Given the description of an element on the screen output the (x, y) to click on. 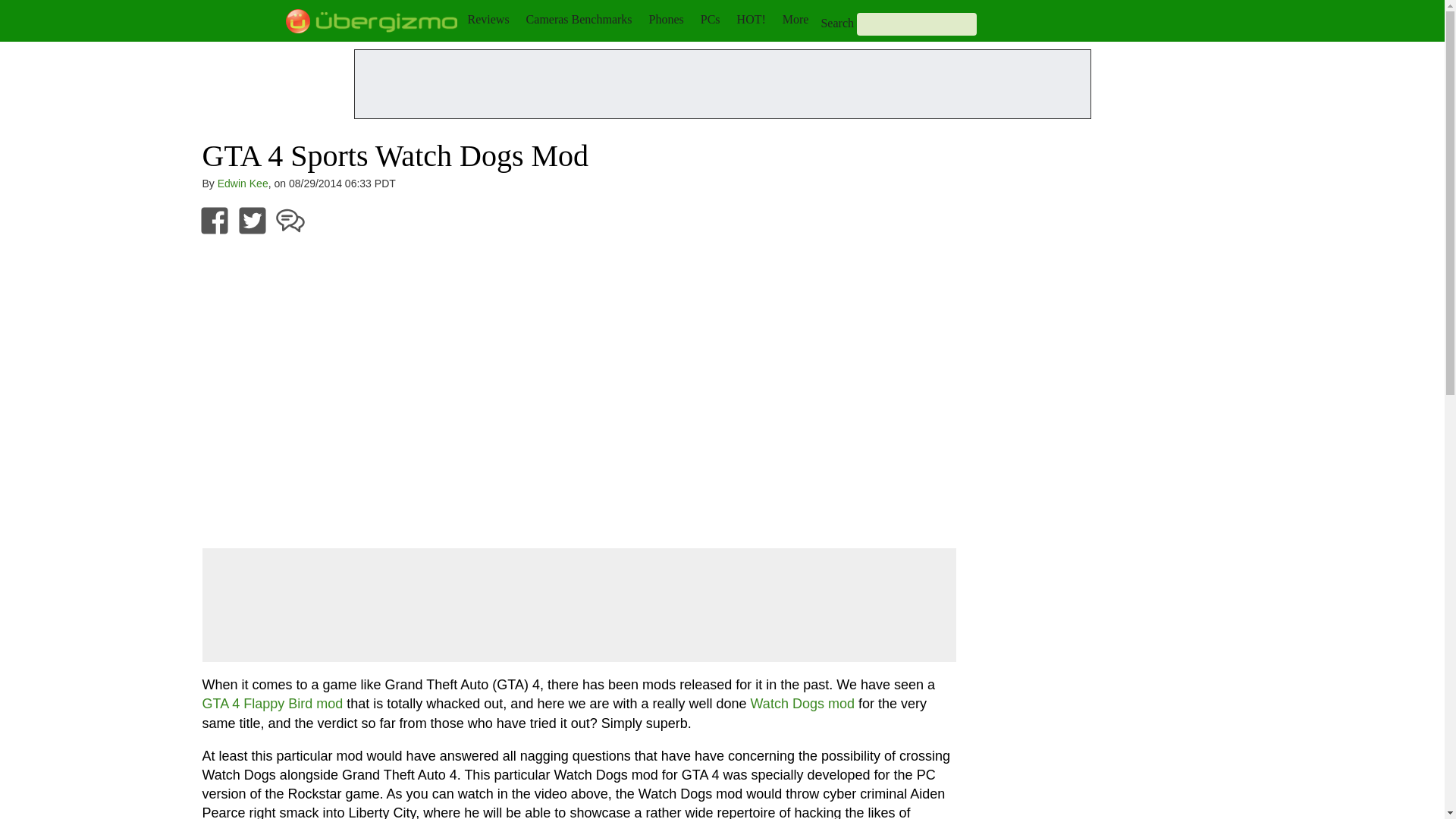
Phones (666, 19)
Cameras Benchmarks (578, 19)
PCs (710, 19)
Reviews (487, 19)
